Given the description of an element on the screen output the (x, y) to click on. 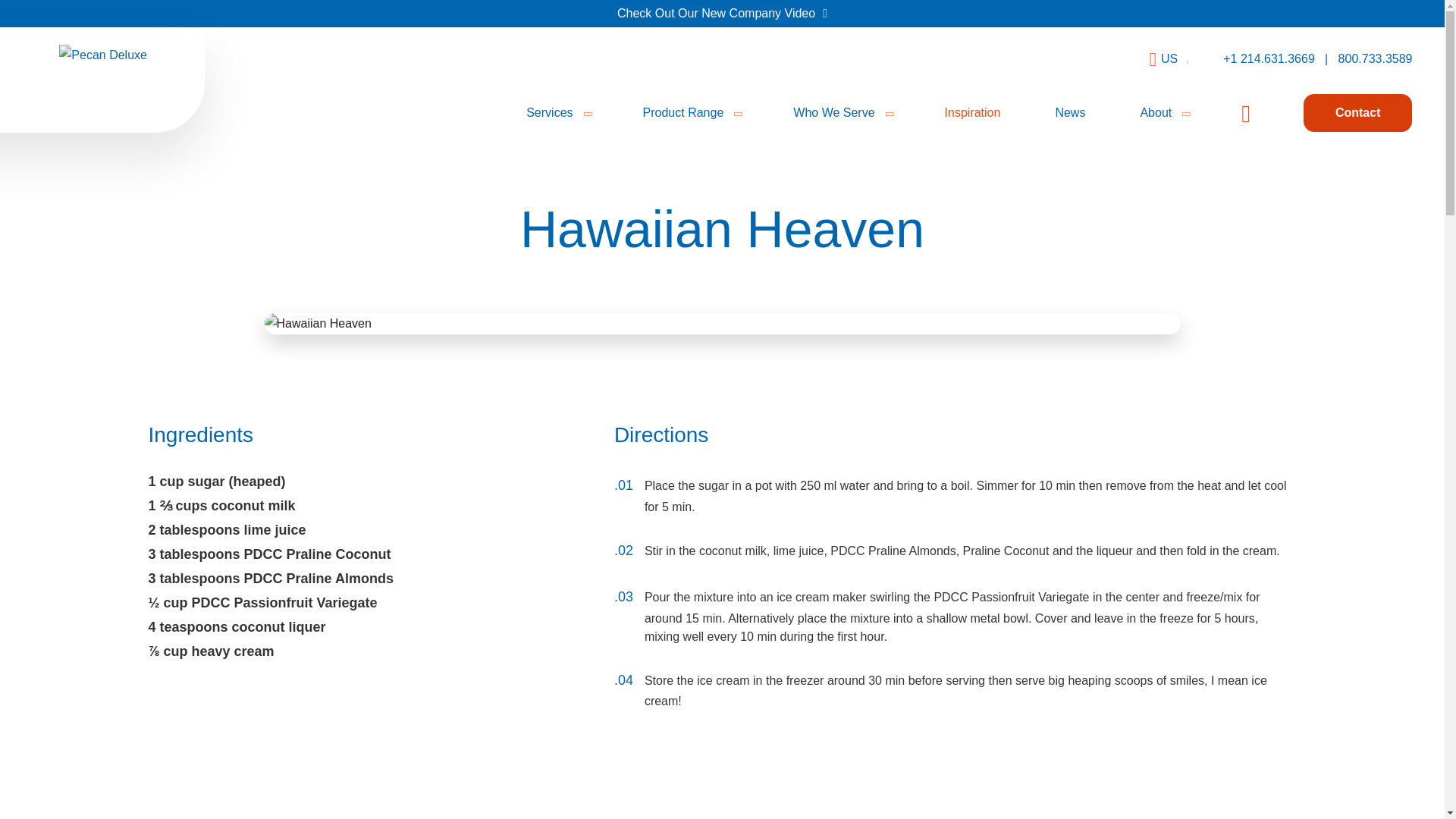
Check Out Our New Company Video (722, 13)
Who We Serve (841, 112)
800.733.3589 (1375, 58)
US (1174, 58)
Product Range (691, 112)
Services (556, 112)
Inspiration (972, 112)
